Given the description of an element on the screen output the (x, y) to click on. 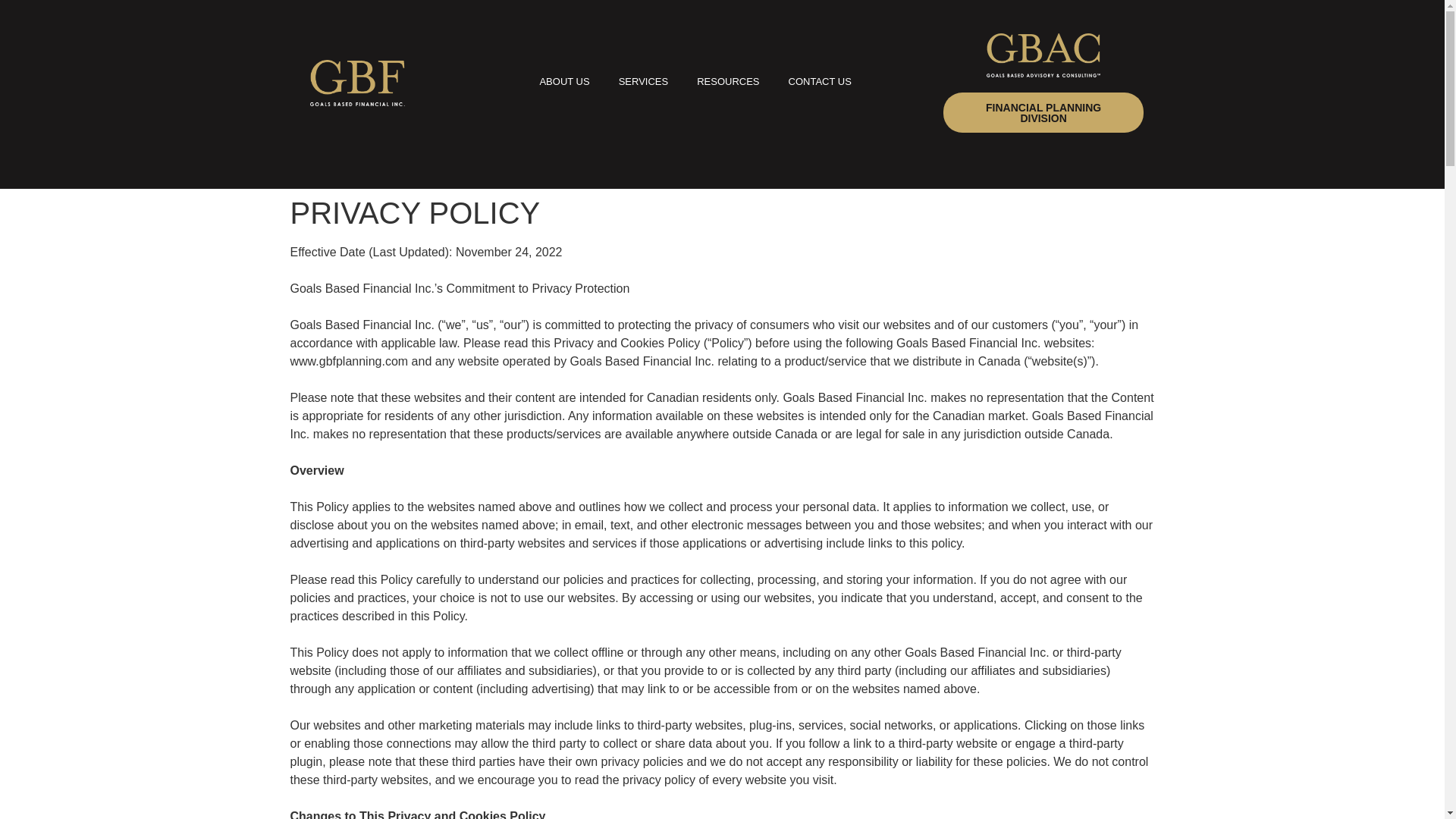
FINANCIAL PLANNING DIVISION (1042, 112)
RESOURCES (727, 82)
SERVICES (643, 82)
ABOUT US (563, 82)
CONTACT US (820, 82)
